Given the description of an element on the screen output the (x, y) to click on. 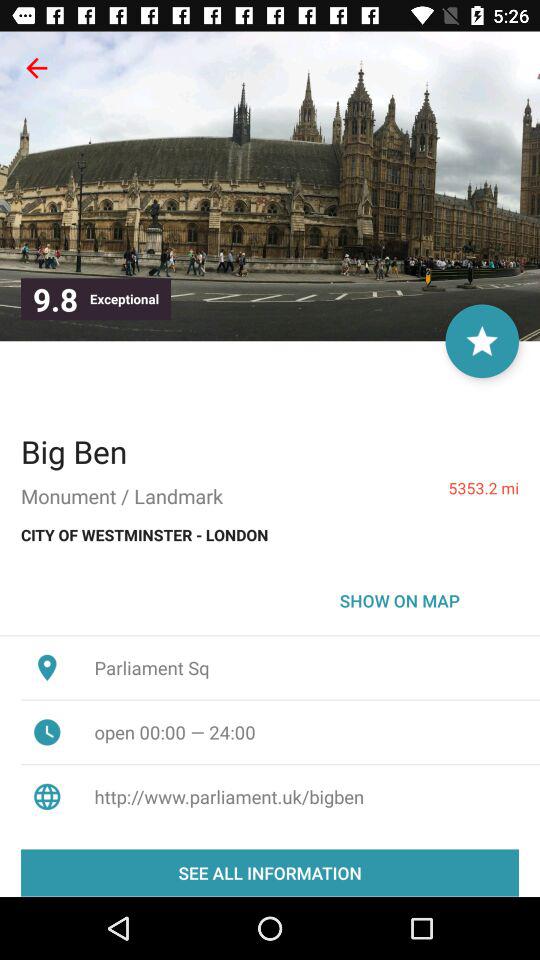
turn off the item to the left of the 5353.2 mi icon (74, 451)
